Given the description of an element on the screen output the (x, y) to click on. 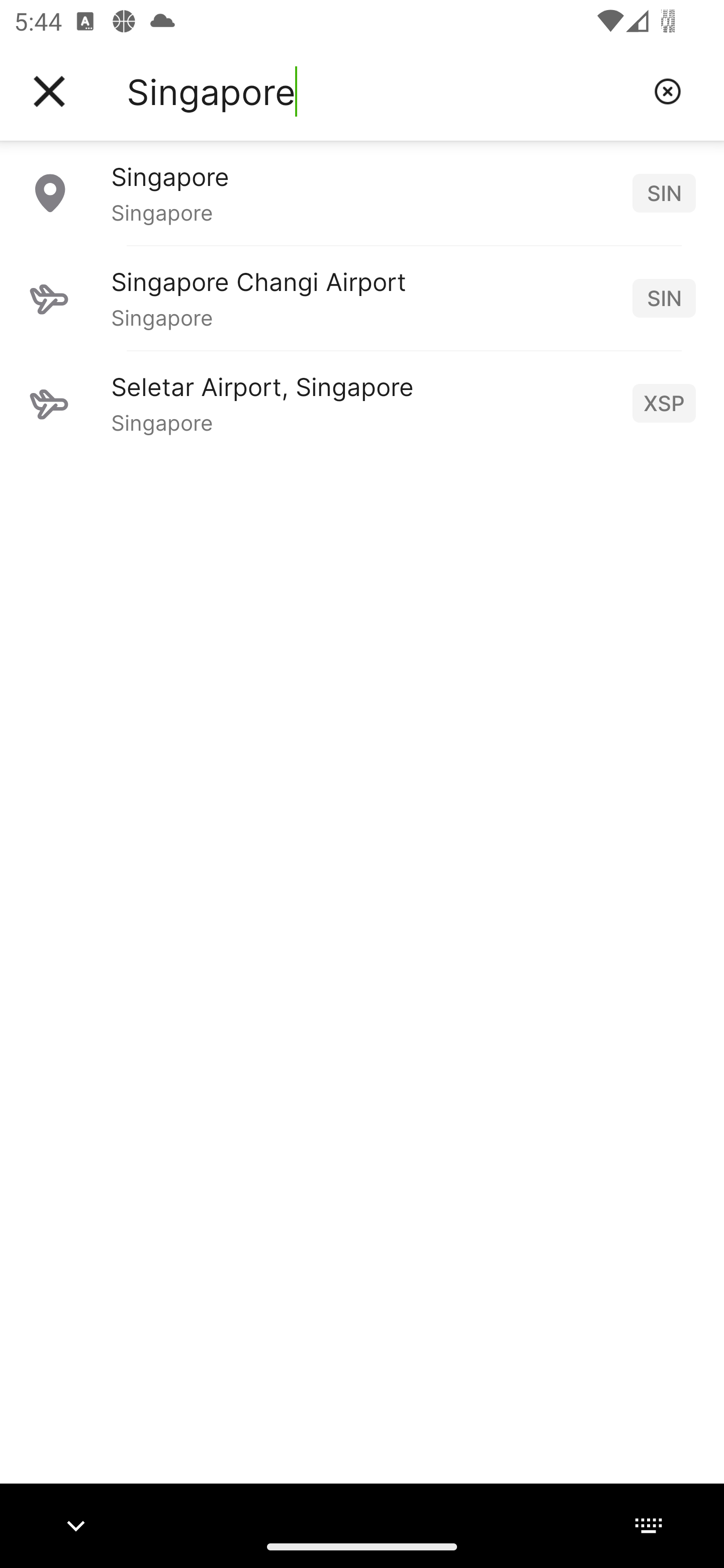
Singapore (382, 91)
Singapore Singapore SIN (362, 192)
Singapore Changi Airport Singapore SIN (362, 297)
Seletar Airport, Singapore Singapore XSP (362, 402)
